Given the description of an element on the screen output the (x, y) to click on. 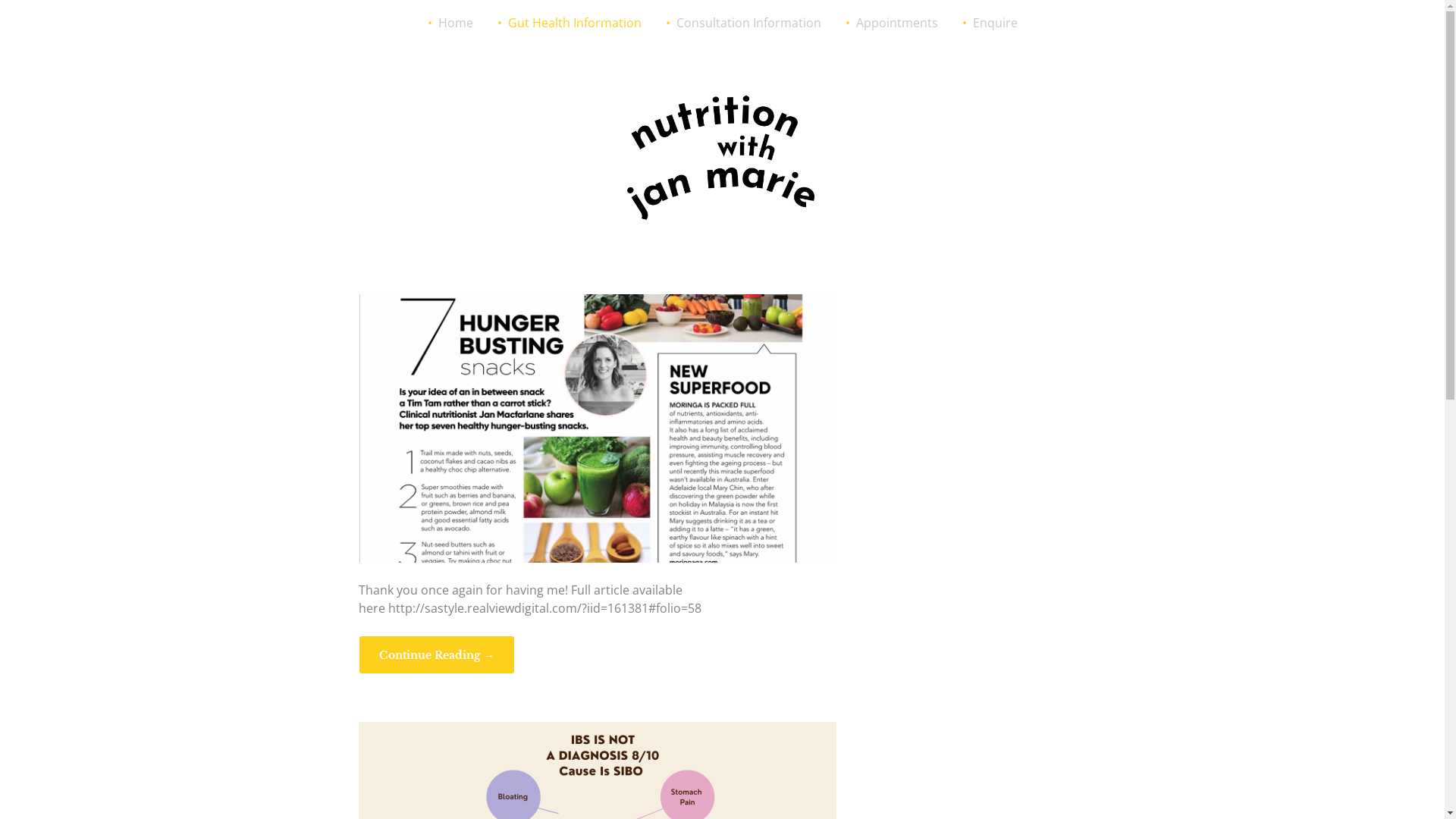
Appointments Element type: text (890, 22)
Consultation Information Element type: text (743, 22)
Enquire Element type: text (989, 22)
Gut Health Information Element type: text (569, 22)
Home Element type: text (450, 22)
Return to homepage Element type: hover (721, 155)
